Given the description of an element on the screen output the (x, y) to click on. 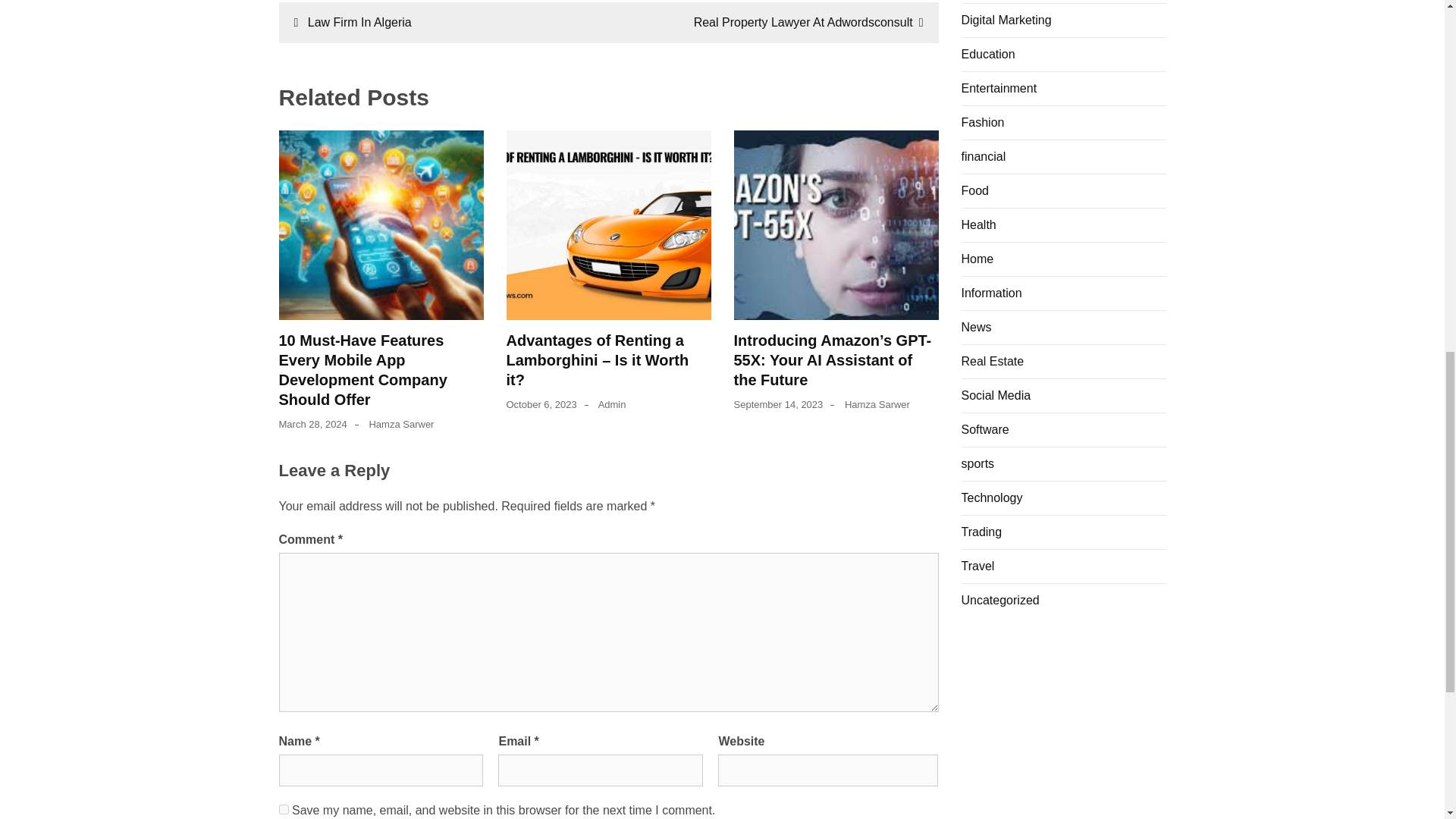
yes (283, 809)
